Given the description of an element on the screen output the (x, y) to click on. 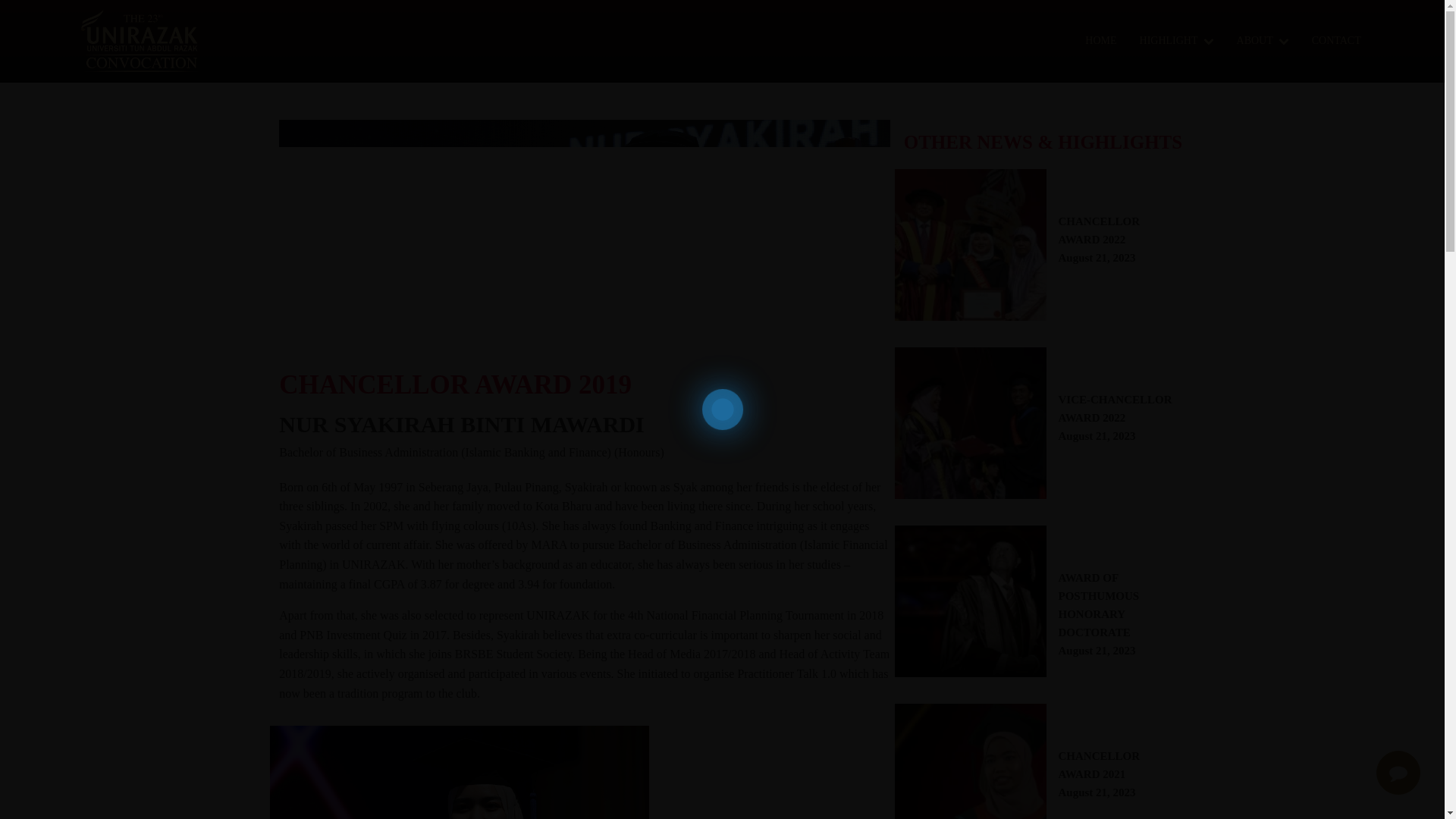
HIGHLIGHT (1176, 40)
HOME (1109, 250)
ABOUT (1109, 782)
CONTACT (1109, 428)
